Given the description of an element on the screen output the (x, y) to click on. 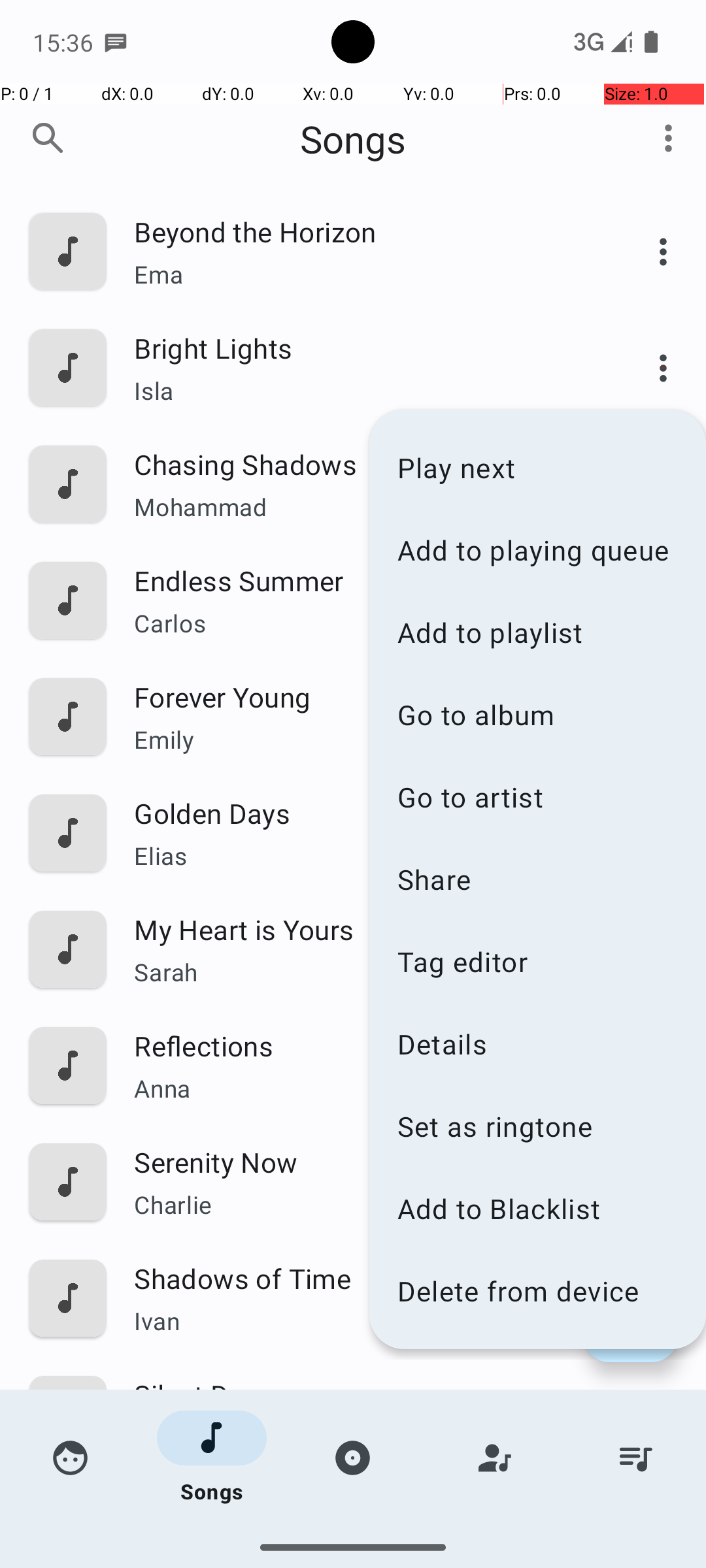
Play next Element type: android.widget.TextView (537, 467)
Add to playing queue Element type: android.widget.TextView (537, 549)
Add to playlist Element type: android.widget.TextView (537, 631)
Go to album Element type: android.widget.TextView (537, 714)
Go to artist Element type: android.widget.TextView (537, 796)
Tag editor Element type: android.widget.TextView (537, 961)
Details Element type: android.widget.TextView (537, 1043)
Set as ringtone Element type: android.widget.TextView (537, 1125)
Add to Blacklist Element type: android.widget.TextView (537, 1207)
Delete from device Element type: android.widget.TextView (537, 1290)
15:36 Element type: android.widget.TextView (64, 41)
